Given the description of an element on the screen output the (x, y) to click on. 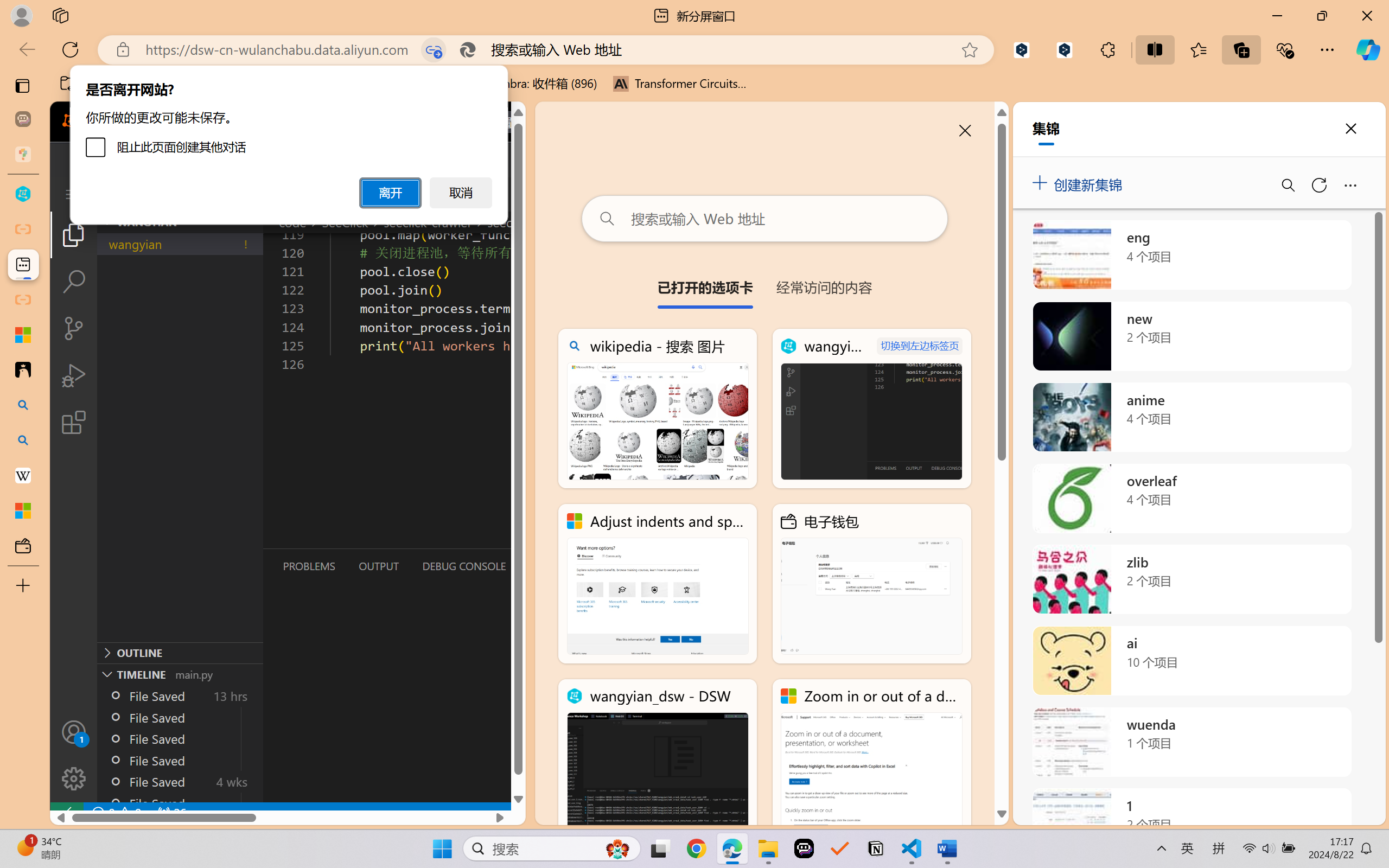
Outline Section (179, 652)
Google Chrome (696, 848)
Run and Debug (Ctrl+Shift+D) (73, 375)
Manage (73, 778)
